Given the description of an element on the screen output the (x, y) to click on. 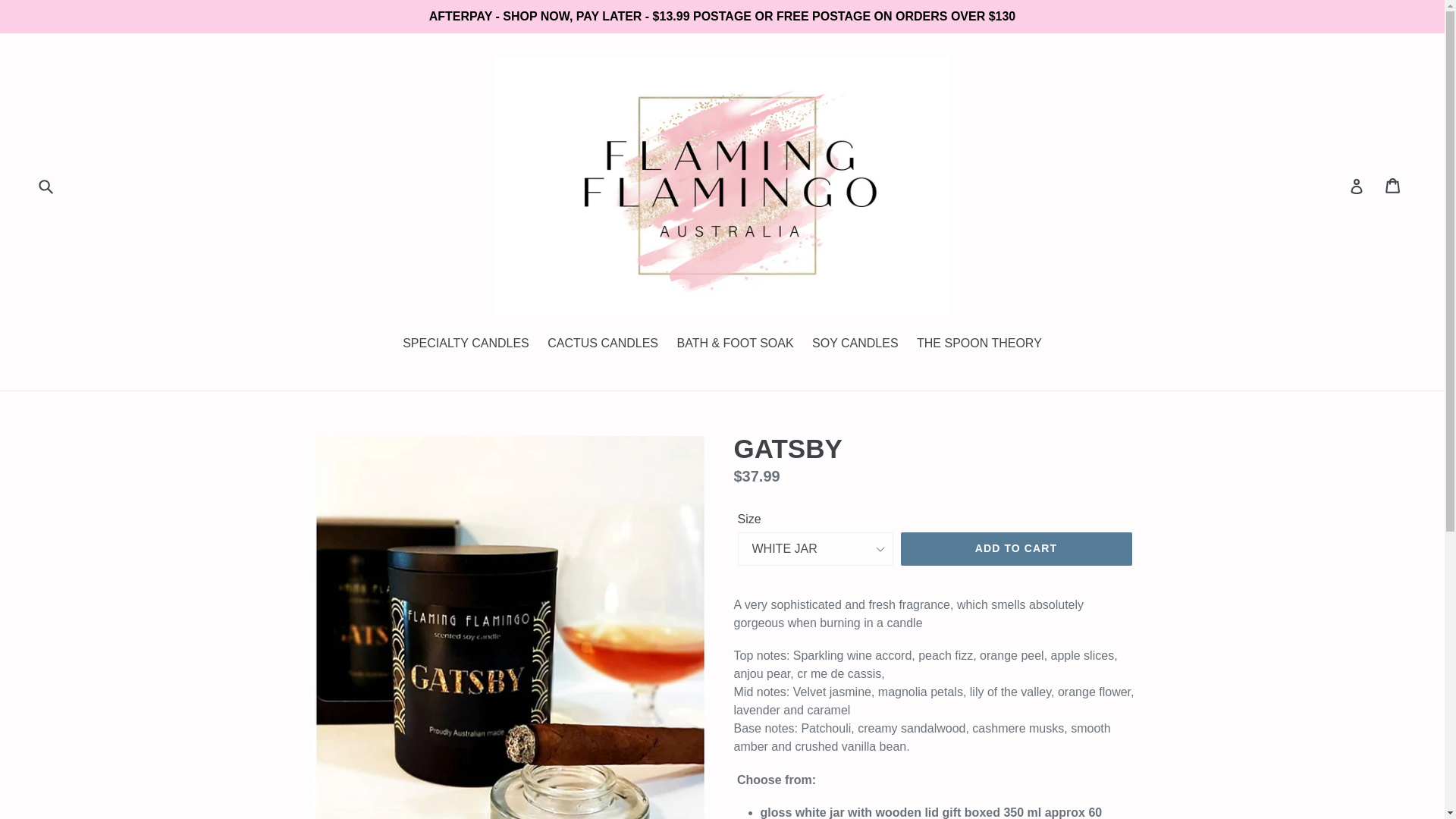
THE SPOON THEORY (978, 344)
Submit (46, 185)
Cart (1393, 185)
SOY CANDLES (855, 344)
CACTUS CANDLES (602, 344)
Log in (1356, 185)
ADD TO CART (1016, 548)
SPECIALTY CANDLES (465, 344)
